Given the description of an element on the screen output the (x, y) to click on. 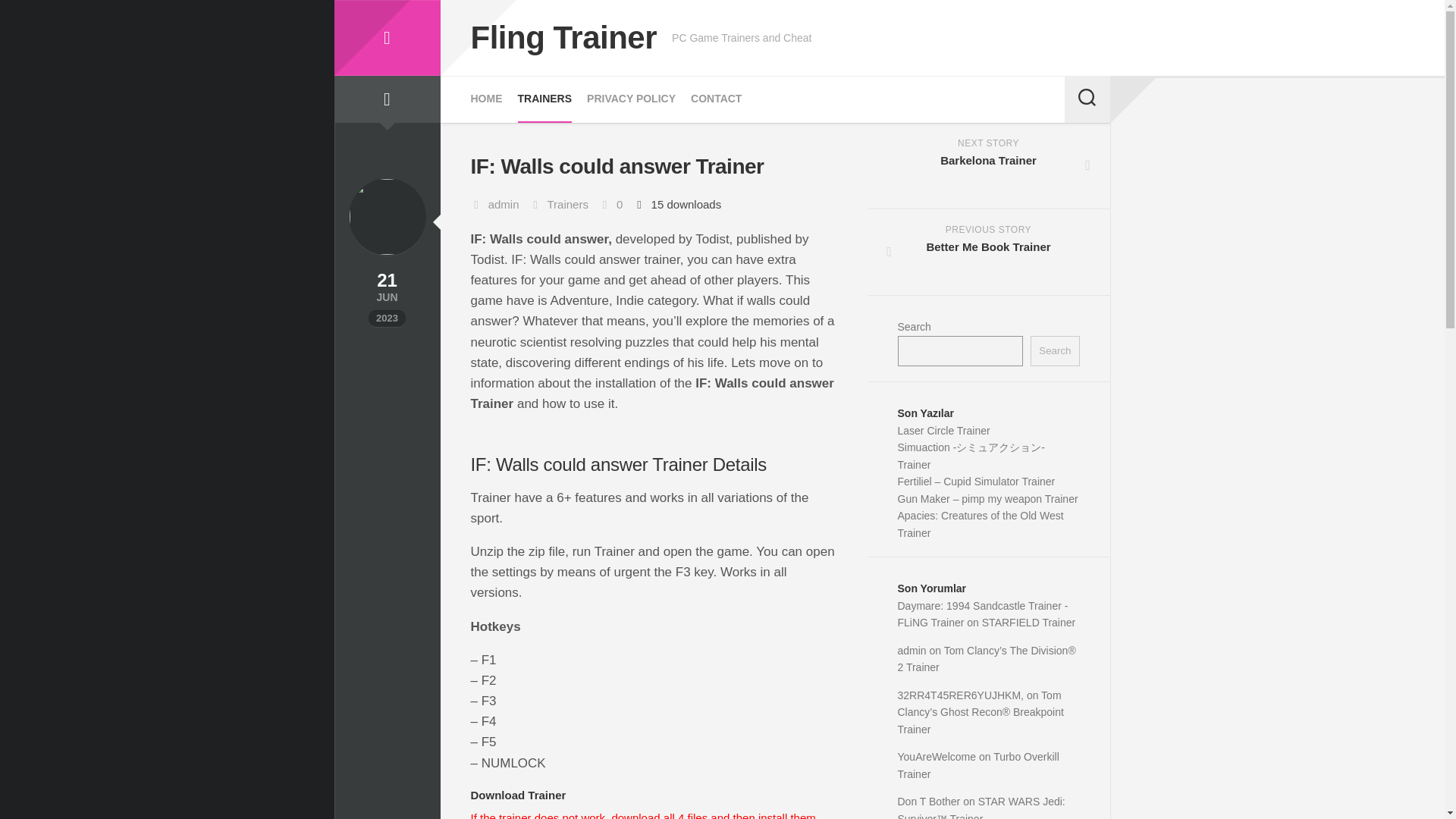
admin (503, 204)
TRAINERS (544, 98)
Laser Circle Trainer (944, 430)
Fling Trainer (563, 37)
Fling Trainer (386, 38)
Posts by admin (503, 204)
Search (1054, 350)
CONTACT (715, 98)
PRIVACY POLICY (988, 165)
